Given the description of an element on the screen output the (x, y) to click on. 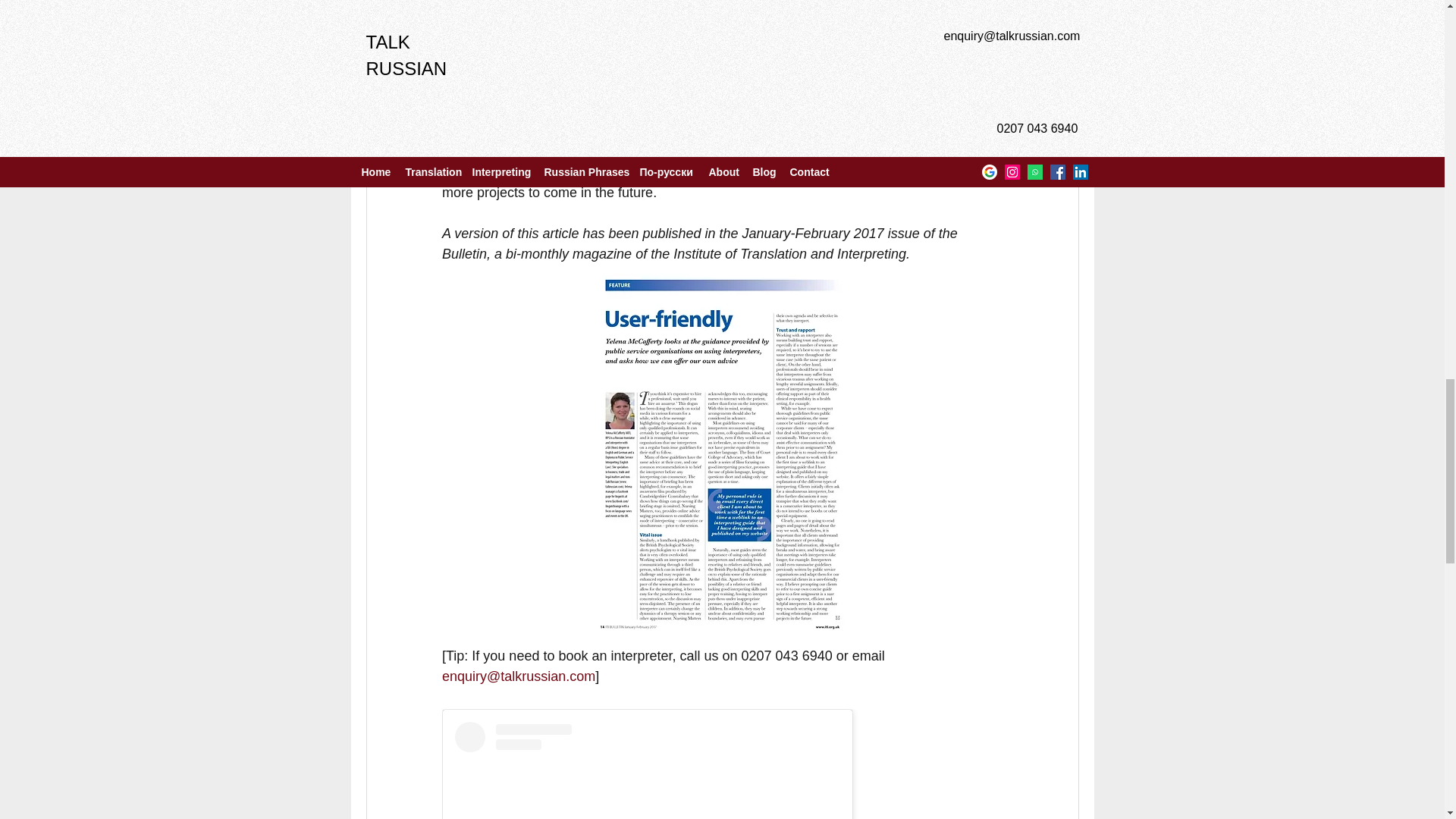
remote content (722, 763)
